Given the description of an element on the screen output the (x, y) to click on. 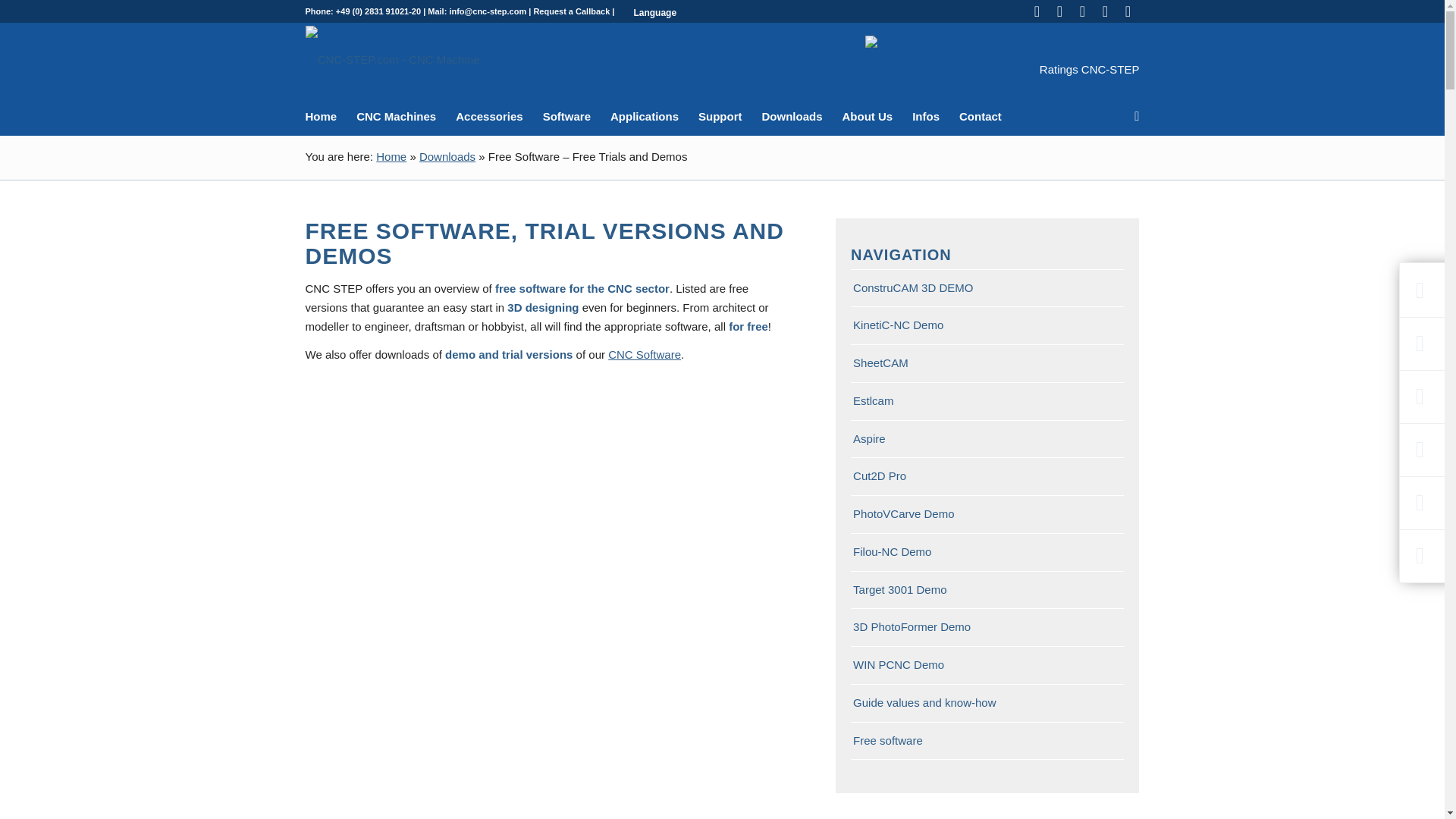
CNC Machines (395, 116)
Software (565, 116)
Pinterest (1104, 11)
Support (720, 116)
Instagram (1081, 11)
Youtube (1059, 11)
CNC Machines (395, 116)
Accessories (488, 116)
Facebook (1036, 11)
Home (325, 116)
Request a Callback (571, 10)
Applications (643, 116)
Mail (1127, 11)
